Given the description of an element on the screen output the (x, y) to click on. 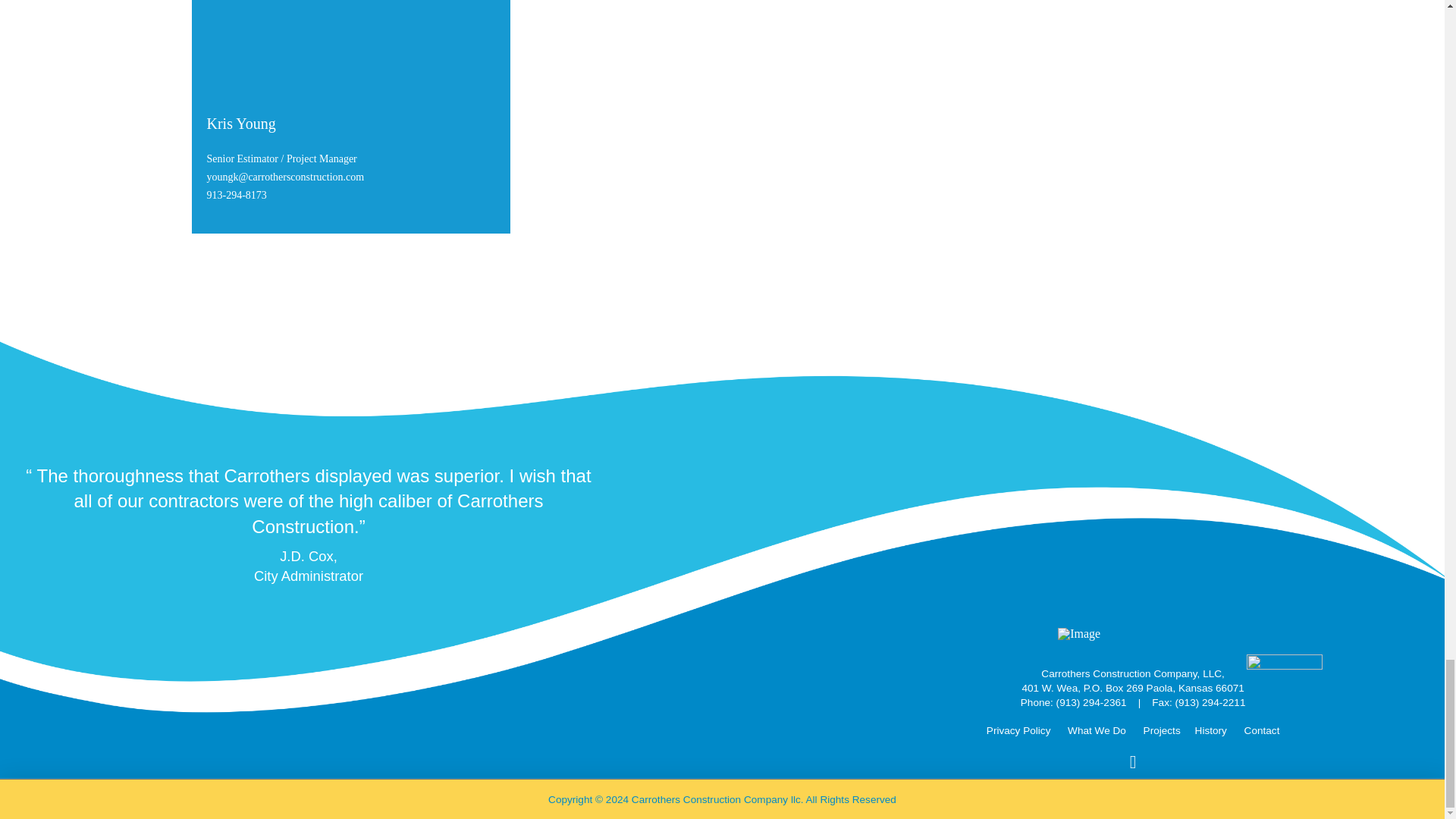
History (1211, 730)
What We Do (1096, 730)
Privacy Policy (1019, 730)
913-294-8173 (236, 194)
Contact (1261, 730)
Projects (1161, 730)
